Given the description of an element on the screen output the (x, y) to click on. 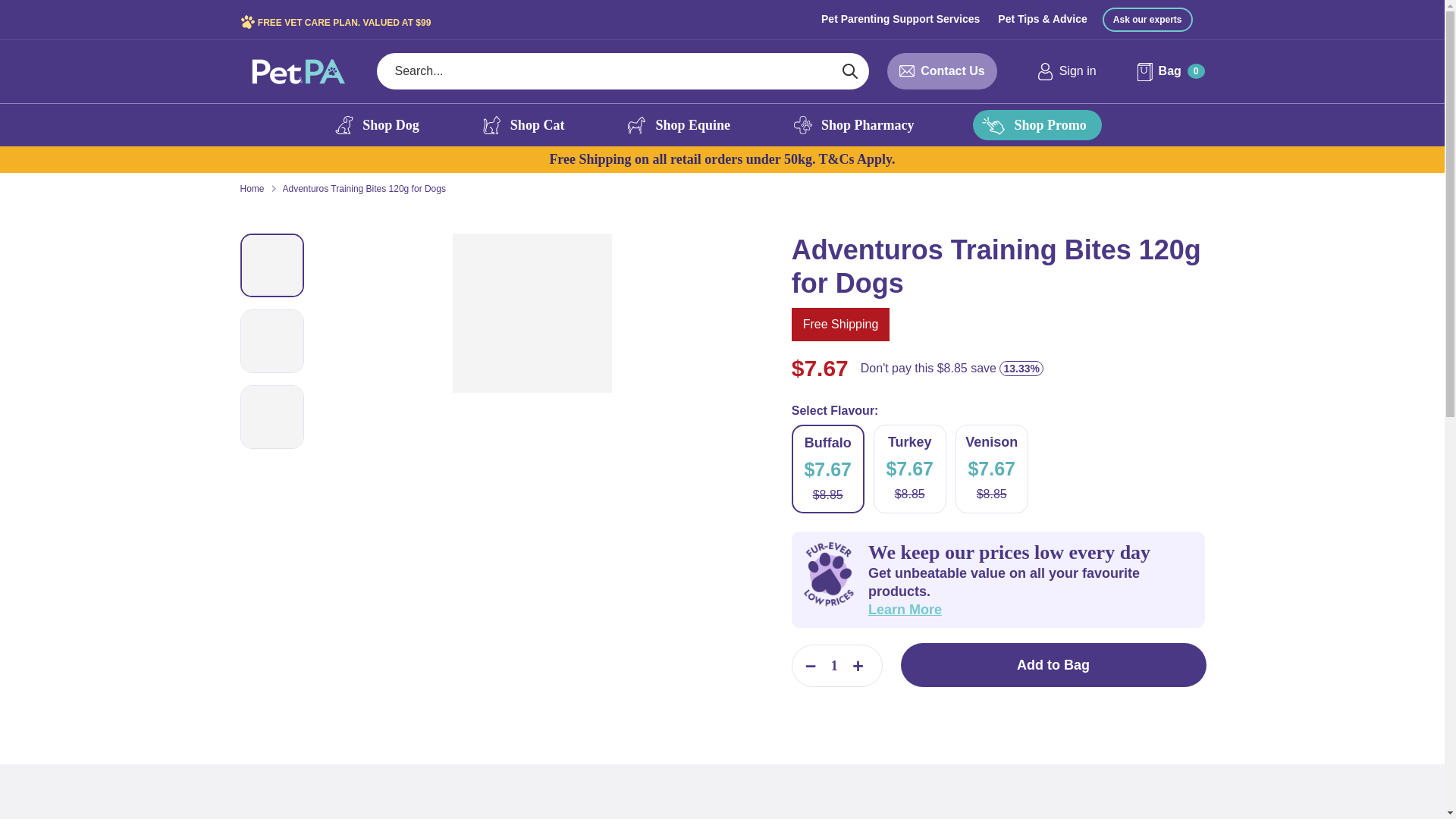
Pet Parenting Support Services (900, 18)
Contact Us (952, 71)
Ask our experts (1147, 19)
Sign in (1067, 71)
